Given the description of an element on the screen output the (x, y) to click on. 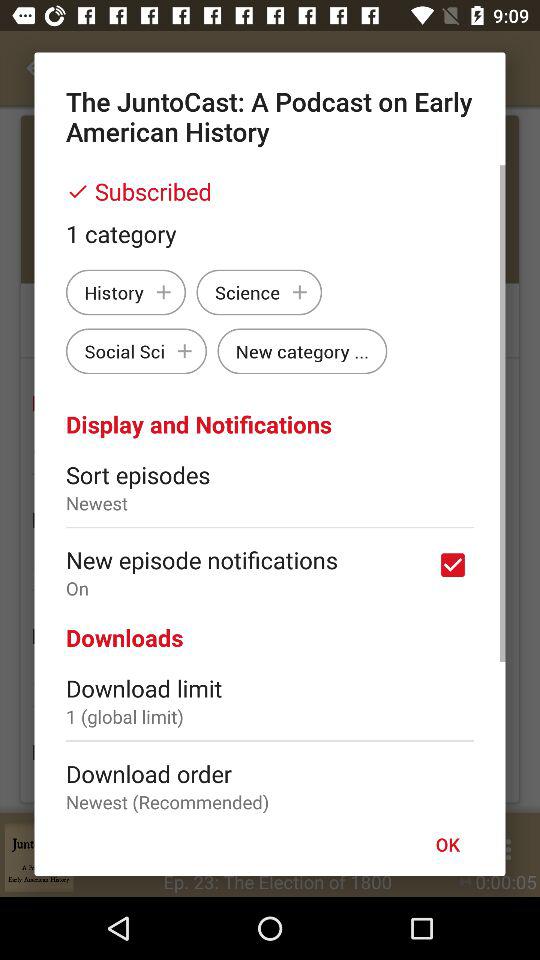
open the 1 category item (269, 233)
